Given the description of an element on the screen output the (x, y) to click on. 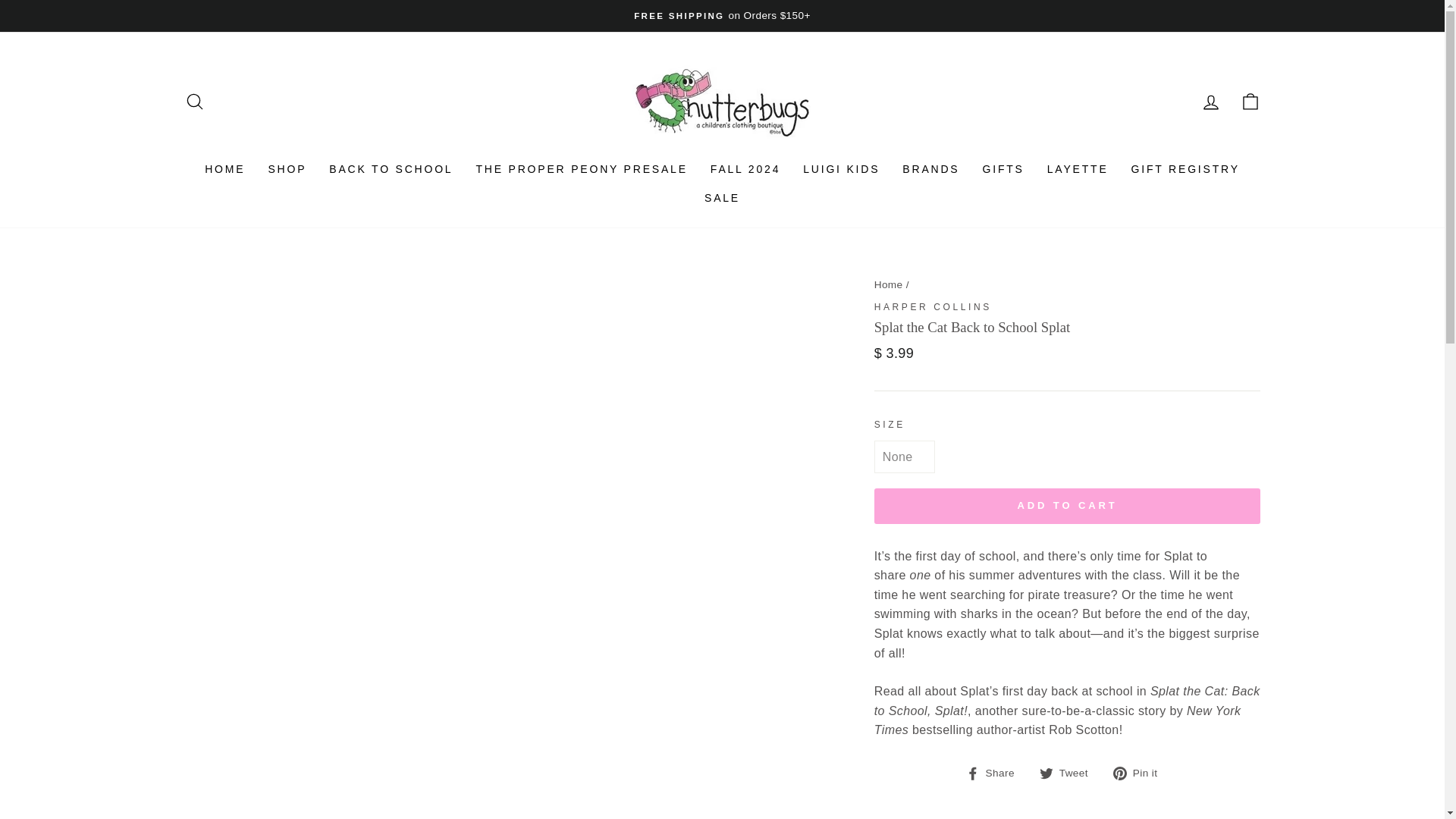
Pin on Pinterest (1141, 772)
Share on Facebook (996, 772)
Back to the frontpage (888, 284)
Tweet on Twitter (1069, 772)
